Given the description of an element on the screen output the (x, y) to click on. 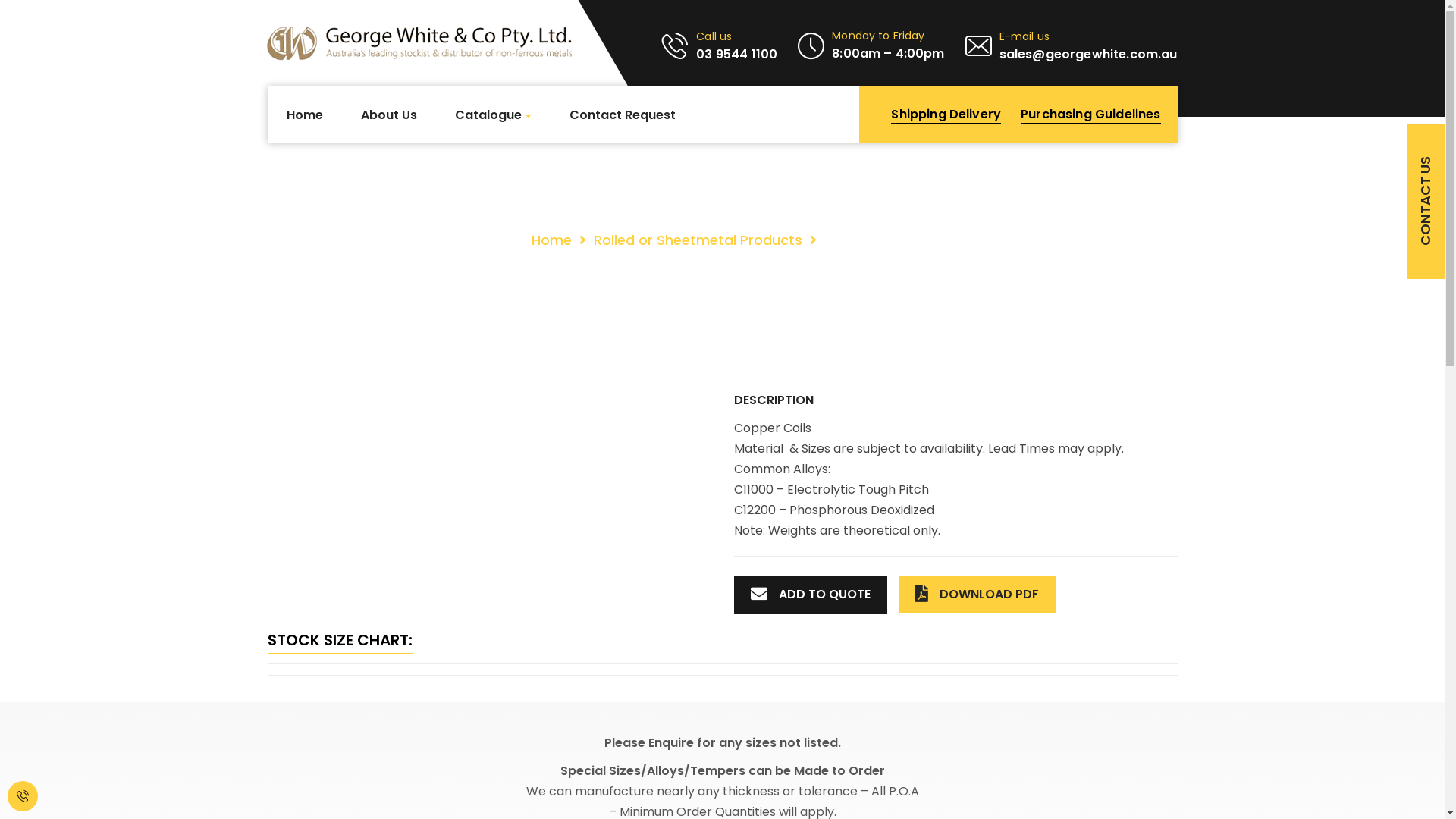
Home Element type: text (304, 114)
Contact Request Element type: text (621, 114)
About Us Element type: text (388, 114)
sales@georgewhite.com.au Element type: text (1088, 53)
DOWNLOAD PDF Element type: text (976, 594)
Shipping Delivery Element type: text (954, 115)
Purchasing Guidelines Element type: text (1098, 115)
ADD TO QUOTE Element type: text (810, 595)
03 9544 1100 Element type: text (736, 53)
STOCK SIZE CHART: Element type: text (338, 639)
Rolled or Sheetmetal Products Element type: text (697, 239)
Catalogue Element type: text (493, 115)
Home Element type: text (551, 239)
